Given the description of an element on the screen output the (x, y) to click on. 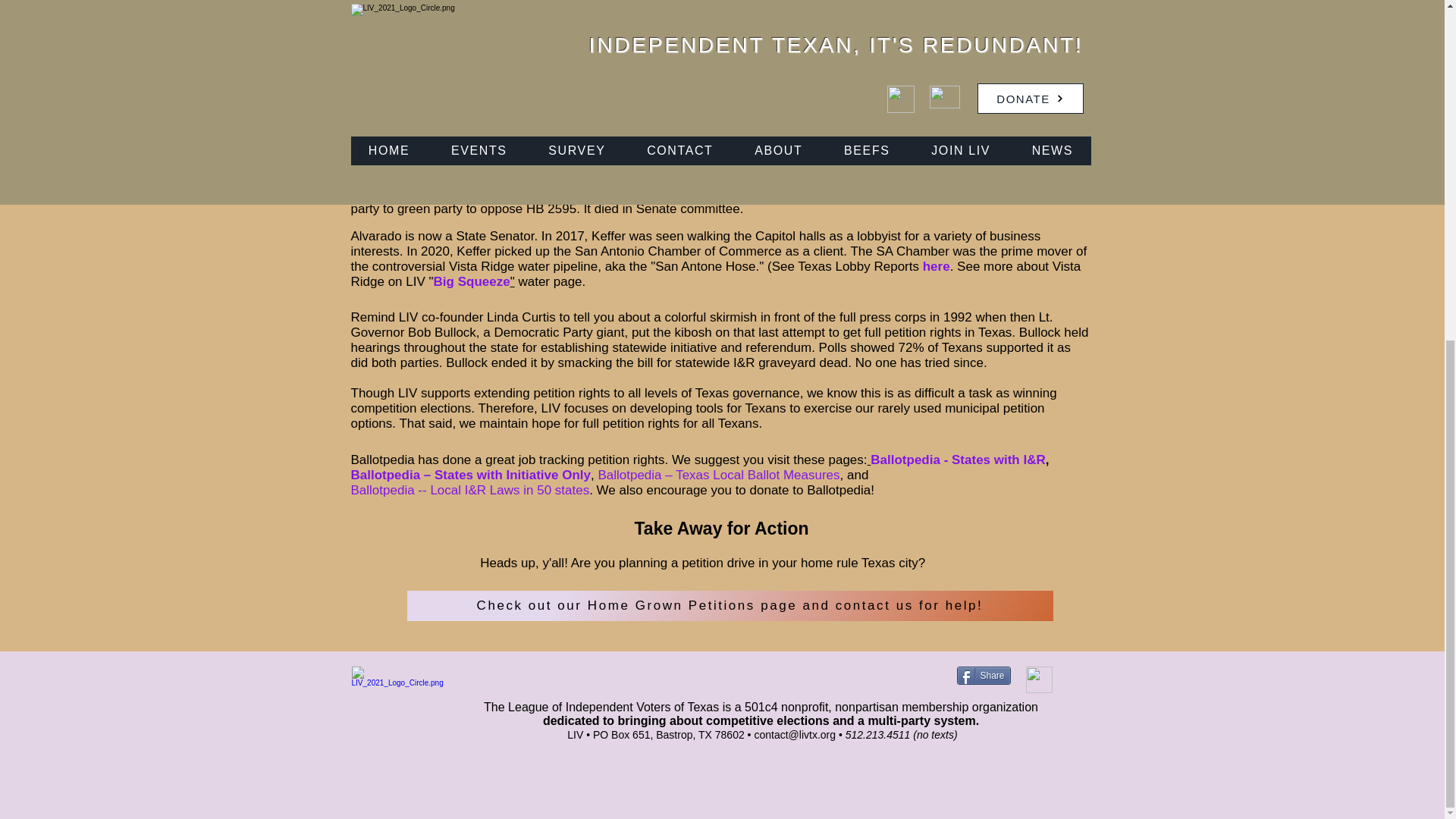
Carol Alvarado (831, 147)
twitter-512.jpg (1038, 679)
here (936, 266)
Share (983, 675)
Big Squeeze (472, 281)
House Bill 2595 (721, 140)
Share (983, 675)
